Given the description of an element on the screen output the (x, y) to click on. 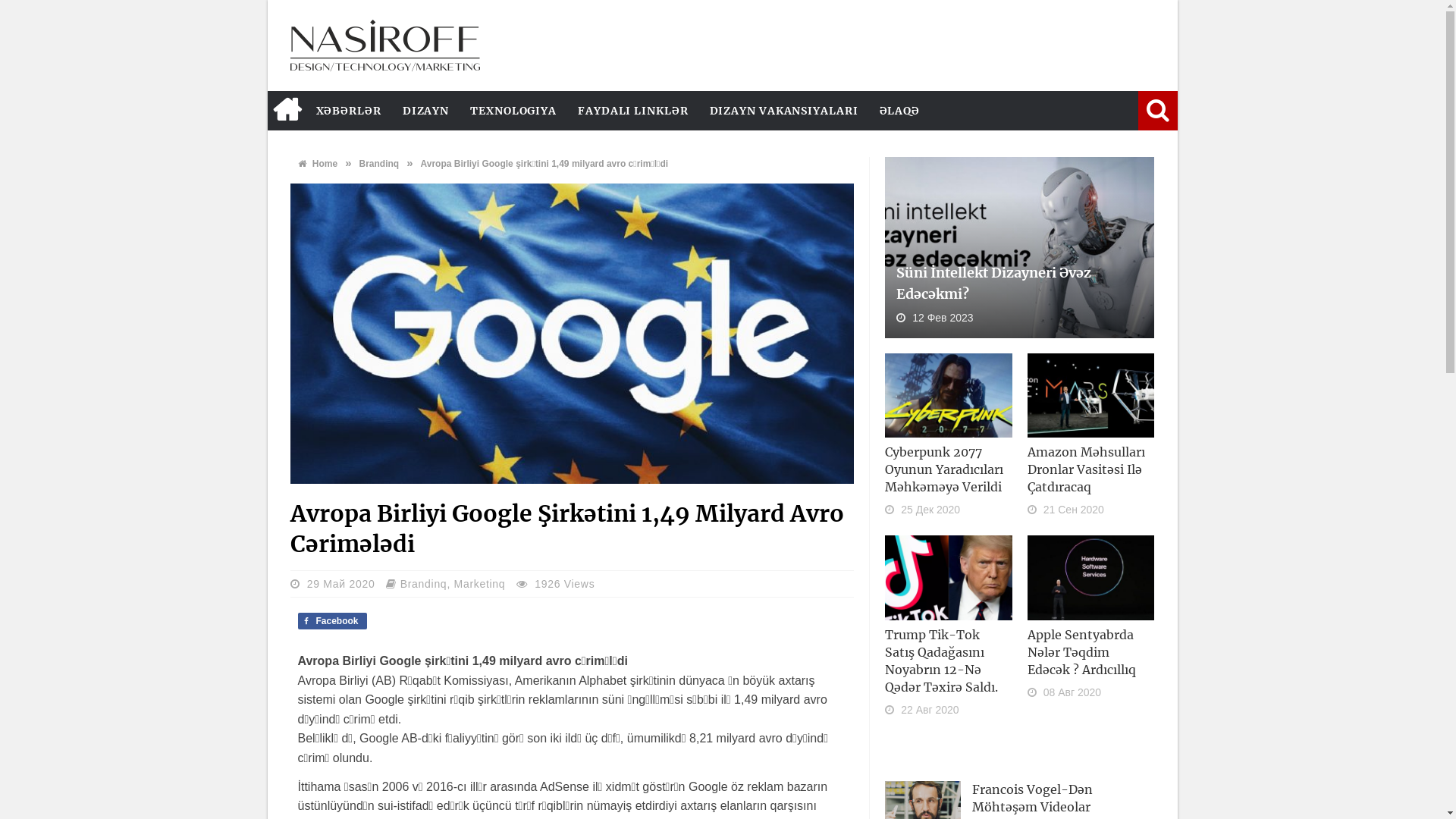
DIZAYN VAKANSIYALARI Element type: text (784, 110)
nasiroff.az Element type: hover (384, 45)
Facebook Element type: text (331, 620)
Home Element type: text (317, 163)
TEXNOLOGIYA Element type: text (513, 110)
Brandinq Element type: text (379, 163)
Marketinq Element type: text (479, 583)
DIZAYN Element type: text (425, 110)
Brandinq Element type: text (423, 583)
